Given the description of an element on the screen output the (x, y) to click on. 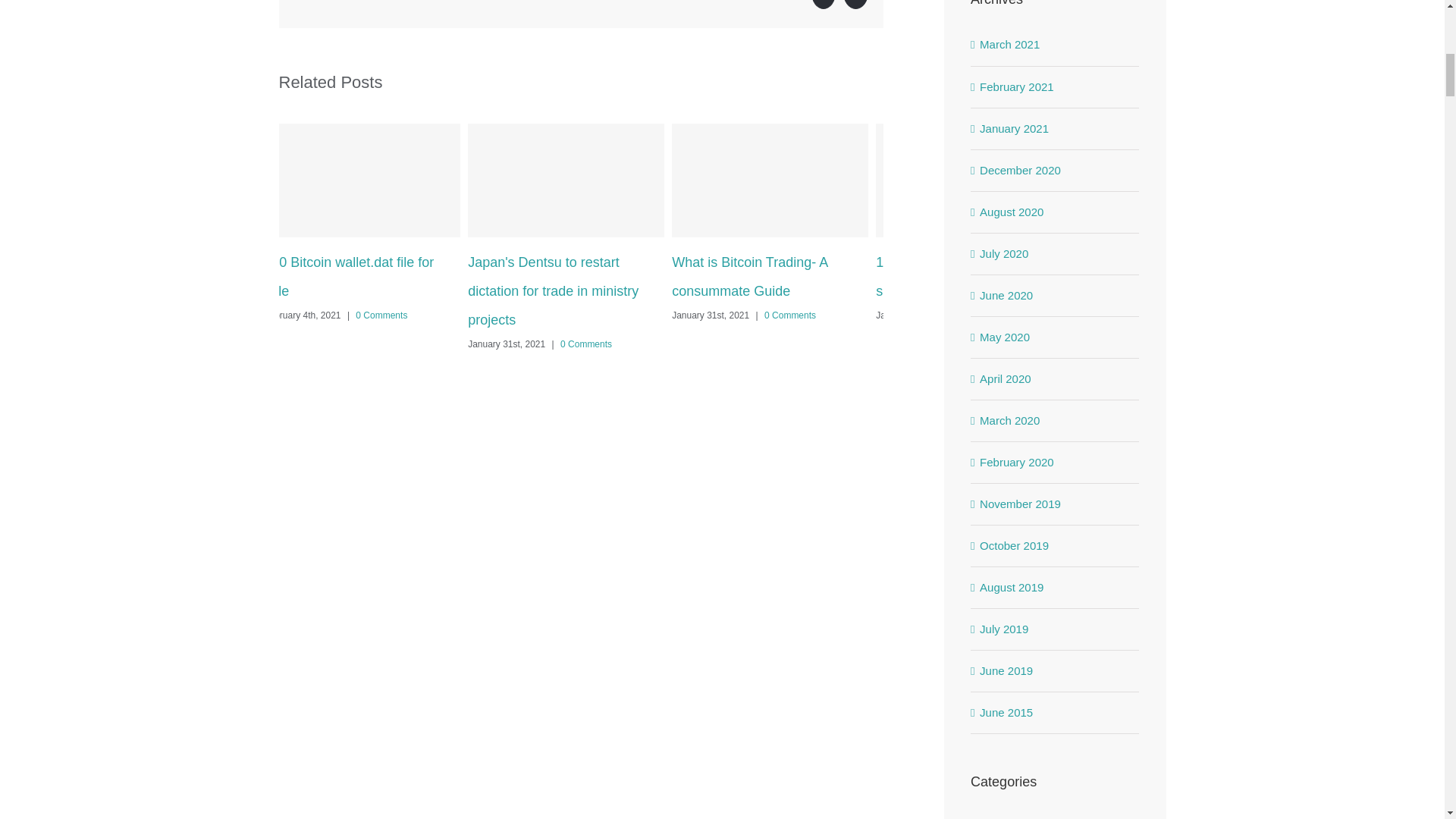
What is Bitcoin Trading- A consummate Guide (749, 276)
0 Comments (585, 344)
160 Bitcoin wallet.dat file for sale (348, 276)
0 Comments (381, 315)
Facebook (822, 4)
What is Bitcoin Trading- A consummate Guide (749, 276)
160 Bitcoin wallet.dat file for sale (960, 276)
LinkedIn (855, 4)
160 Bitcoin wallet.dat file for sale (348, 276)
alternative medicine (1055, 816)
